Given the description of an element on the screen output the (x, y) to click on. 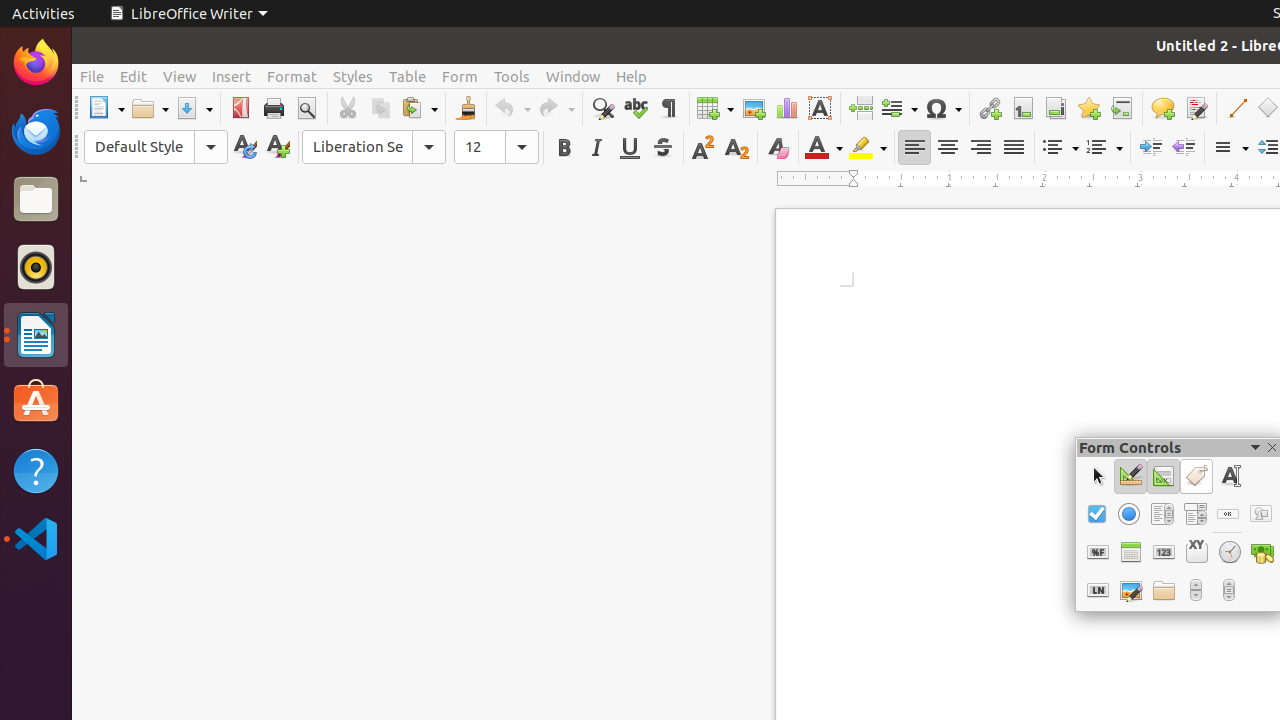
Spin Button Element type: toggle-button (1196, 590)
Help Element type: push-button (36, 470)
File Selection Element type: toggle-button (1163, 590)
Firefox Web Browser Element type: push-button (36, 63)
Pattern Field Element type: toggle-button (1097, 590)
